Given the description of an element on the screen output the (x, y) to click on. 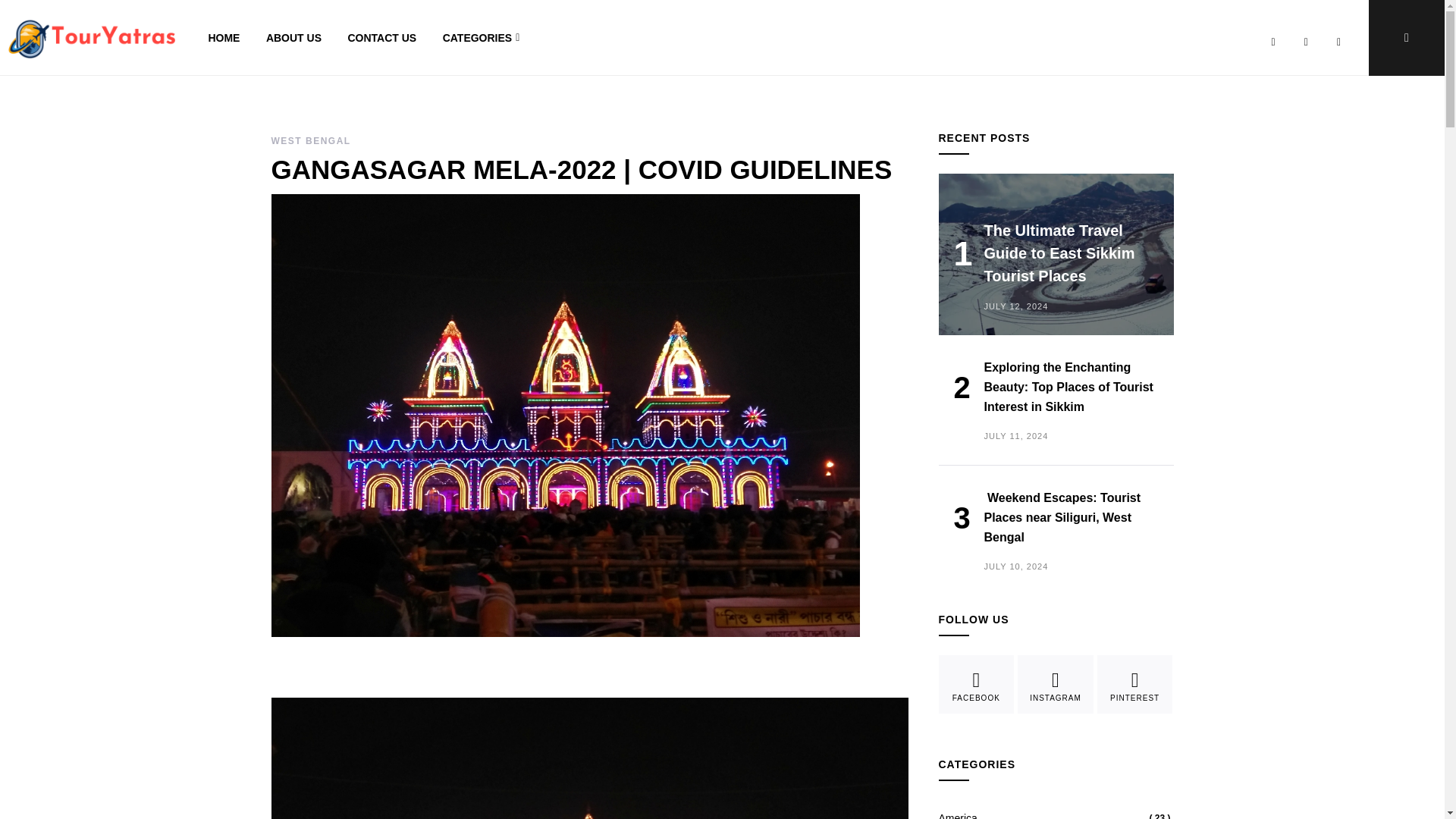
HOME (224, 38)
CONTACT US (381, 38)
ABOUT US (293, 38)
CATEGORIES (480, 38)
